Given the description of an element on the screen output the (x, y) to click on. 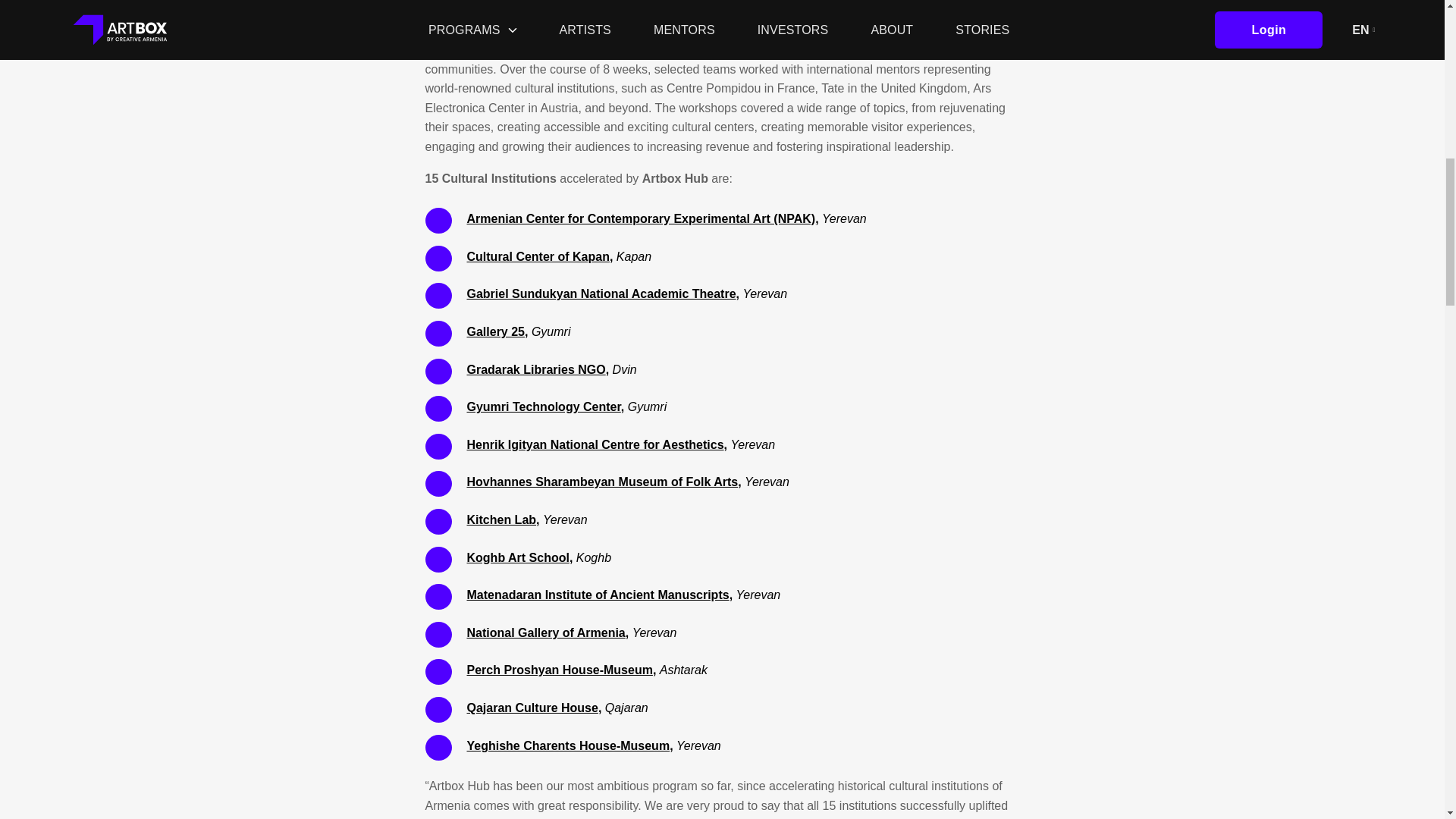
Gallery 25 (496, 331)
Cultural Center of Kapan (538, 256)
Gradarak Libraries NGO (536, 369)
Kitchen Lab (502, 519)
Gyumri Technology Center (544, 406)
Gabriel Sundukyan National Academic Theatre (601, 293)
Hovhannes Sharambeyan Museum of Folk Arts (602, 481)
Henrik Igityan National Centre for Aesthetics (595, 444)
